Given the description of an element on the screen output the (x, y) to click on. 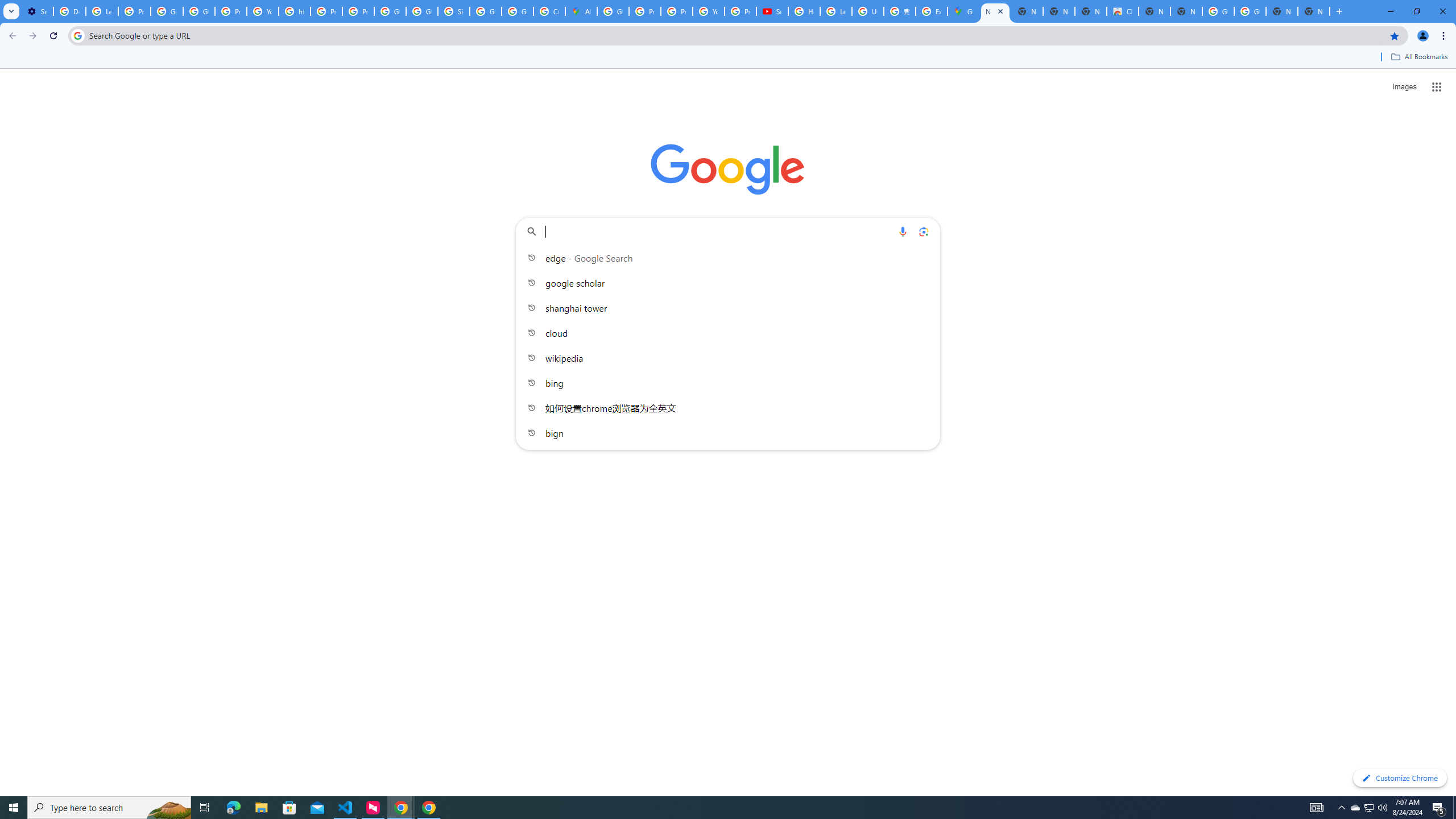
YouTube (708, 11)
Privacy Help Center - Policies Help (676, 11)
Subscriptions - YouTube (772, 11)
YouTube (262, 11)
Google Account Help (166, 11)
Google Maps (963, 11)
Add shortcut (727, 287)
